Given the description of an element on the screen output the (x, y) to click on. 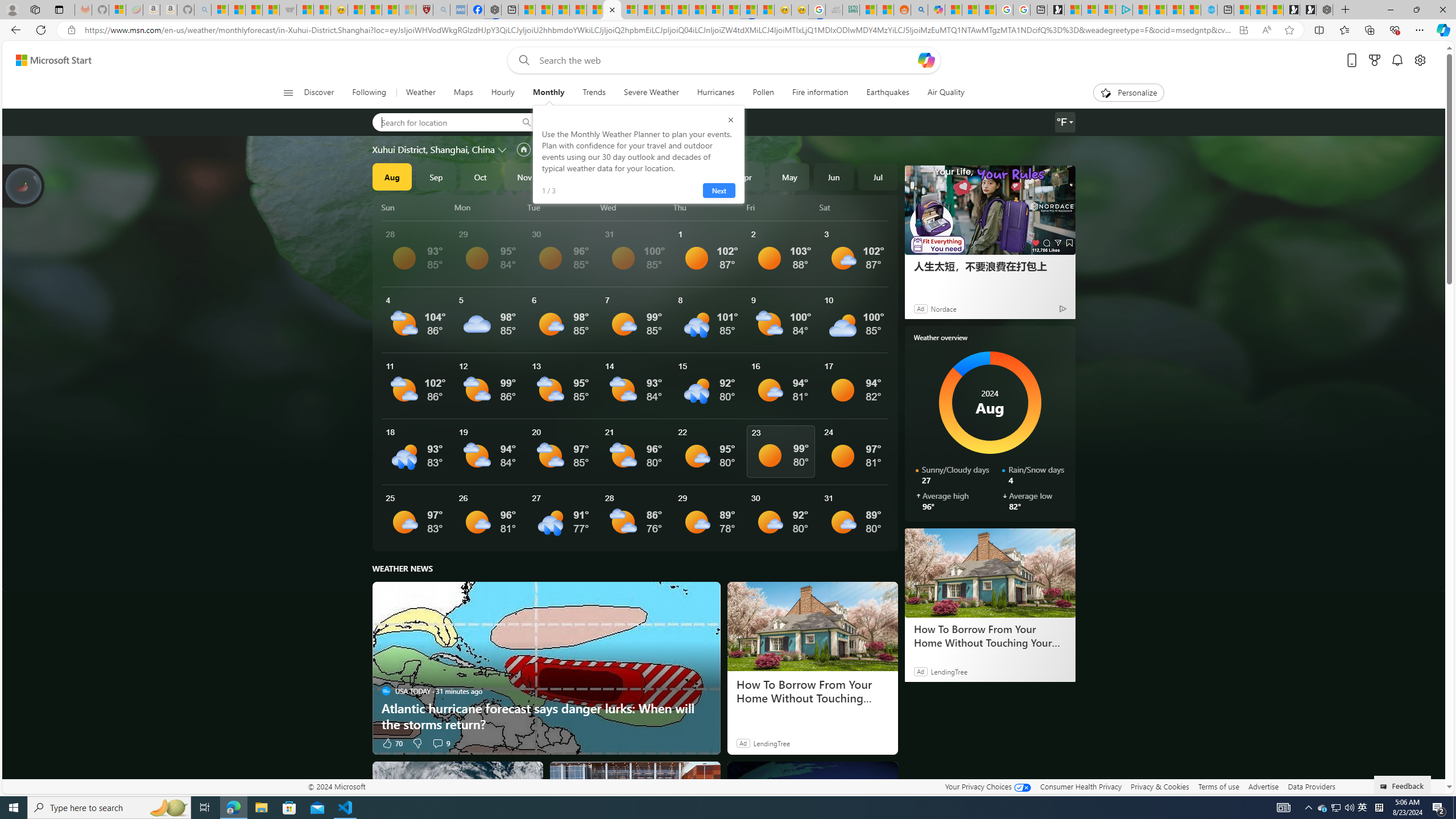
Remove location (653, 122)
Air Quality (940, 92)
Wed (634, 207)
View comments 9 Comment (440, 742)
Trends (593, 92)
